Given the description of an element on the screen output the (x, y) to click on. 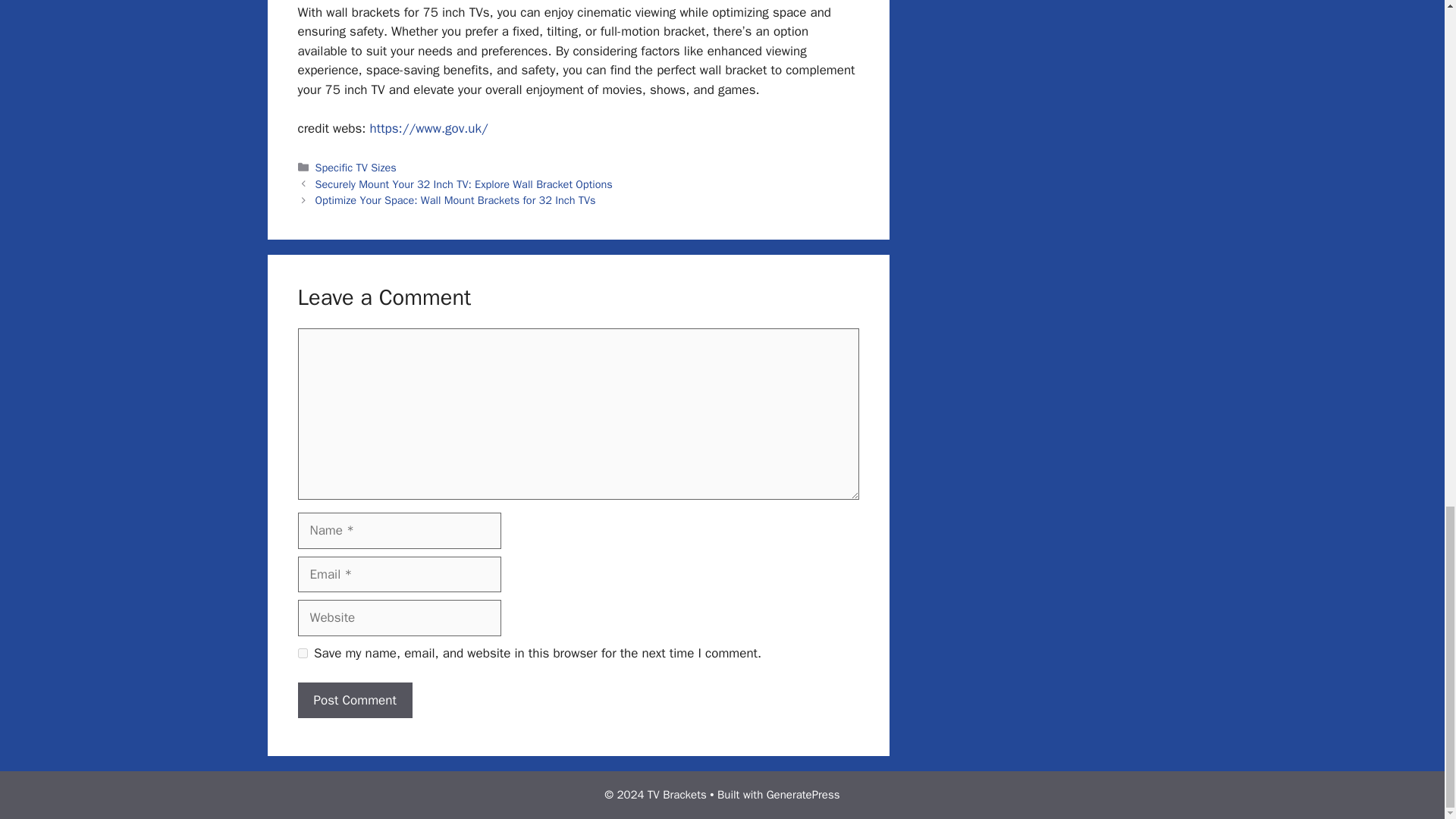
Securely Mount Your 32 Inch TV: Explore Wall Bracket Options (463, 183)
Optimize Your Space: Wall Mount Brackets for 32 Inch TVs (455, 200)
yes (302, 653)
Post Comment (354, 700)
Post Comment (354, 700)
GeneratePress (803, 794)
Specific TV Sizes (355, 167)
